Given the description of an element on the screen output the (x, y) to click on. 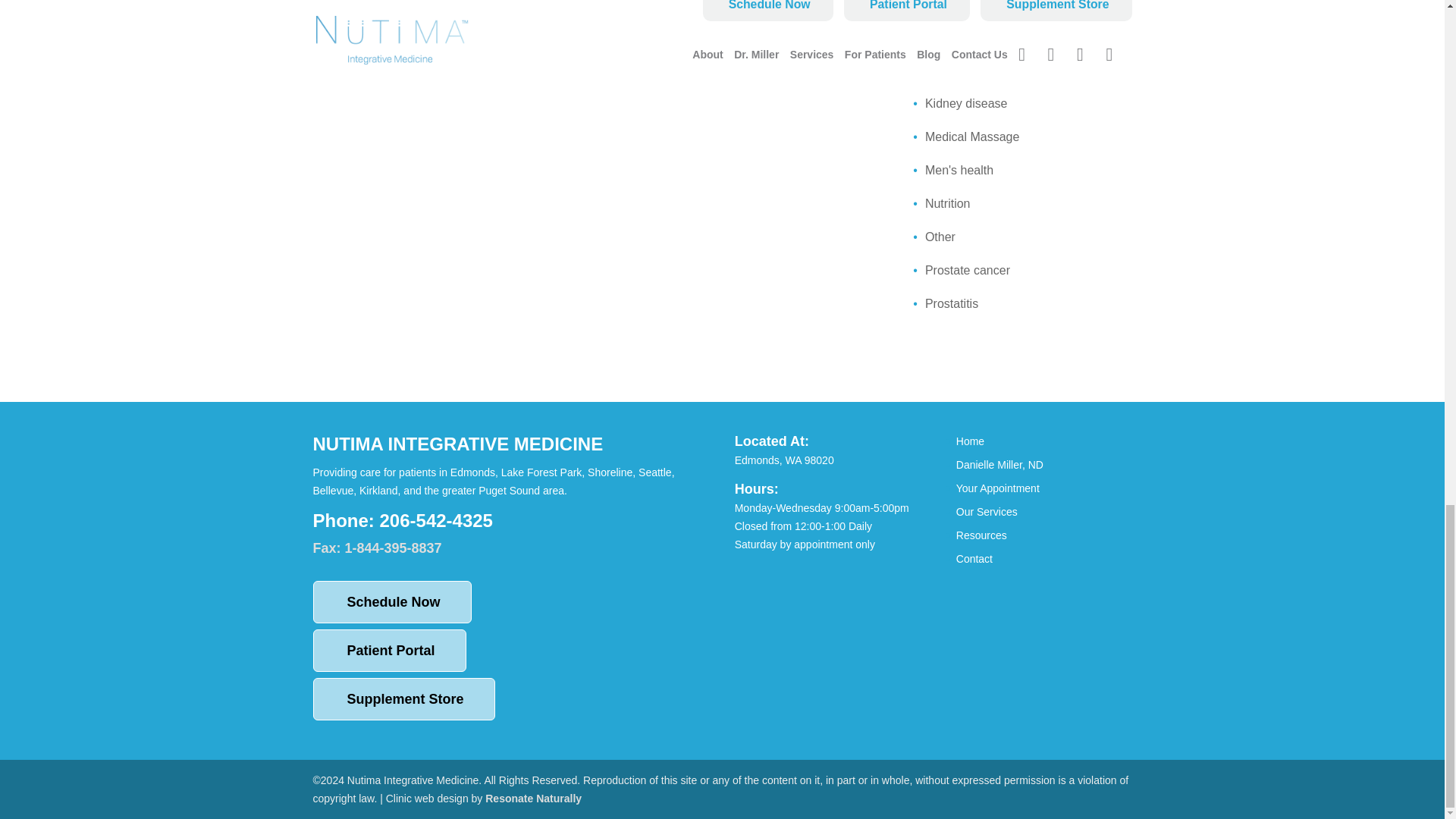
Seattle clinic web design and marketing (532, 798)
